Given the description of an element on the screen output the (x, y) to click on. 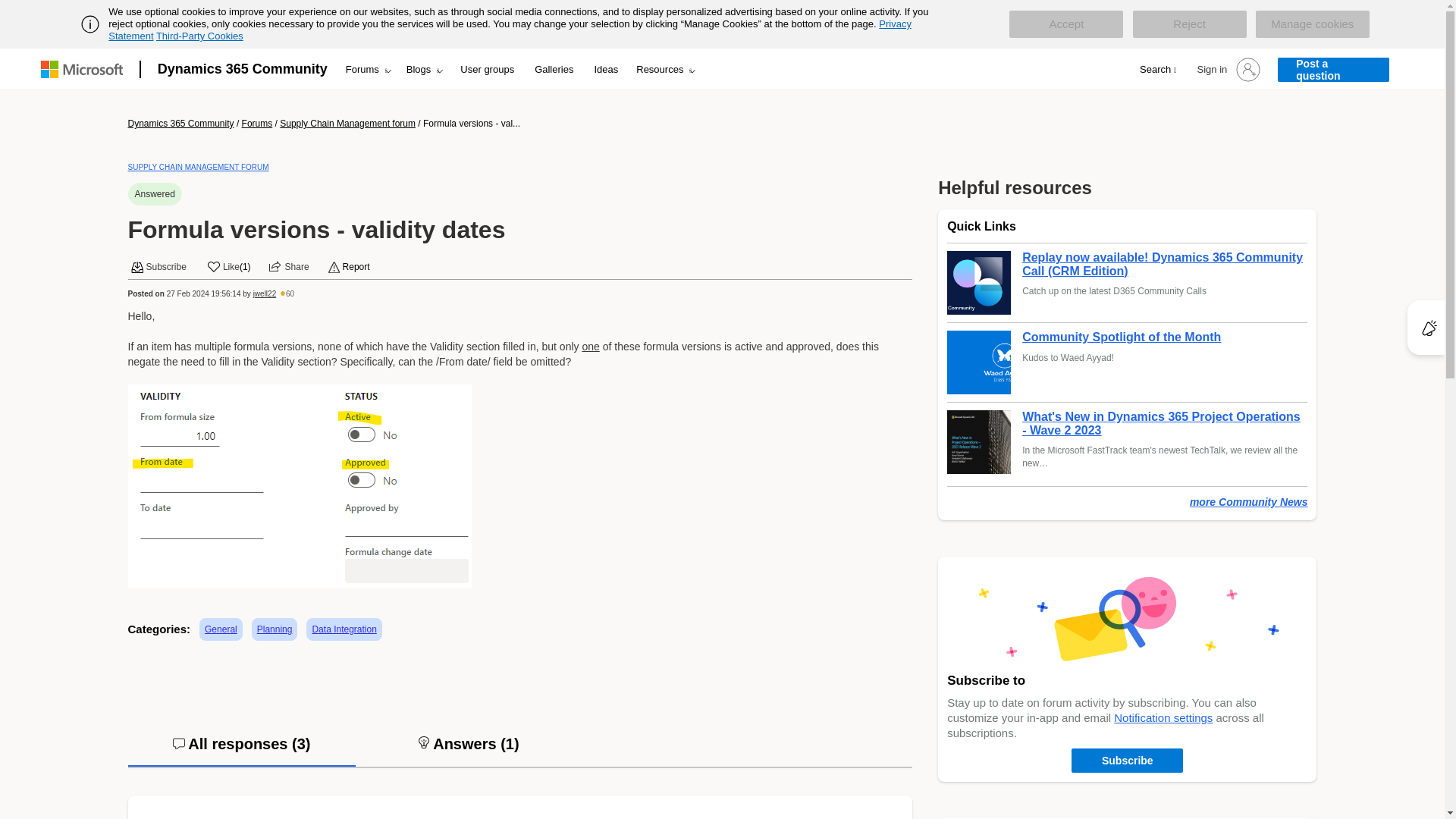
Search (1158, 69)
Reject (1189, 23)
Dynamics 365 Community (242, 68)
Forums (366, 69)
jwell22 (264, 293)
Manage cookies (1312, 23)
Third-Party Cookies (199, 35)
Privacy Statement (509, 29)
Accept (1065, 23)
Sign in (1248, 69)
